Given the description of an element on the screen output the (x, y) to click on. 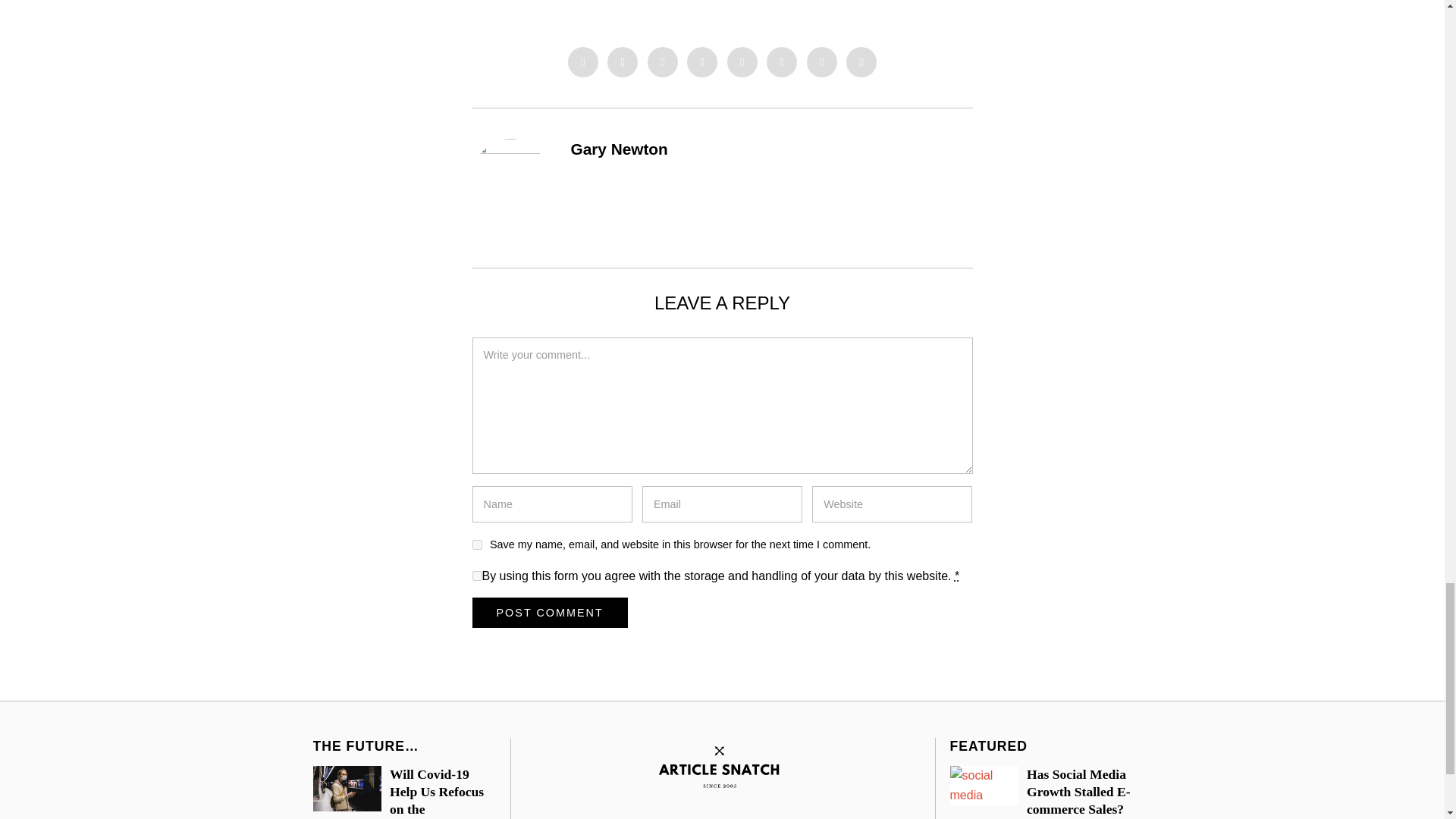
Post Comment (549, 612)
yes (476, 544)
